Given the description of an element on the screen output the (x, y) to click on. 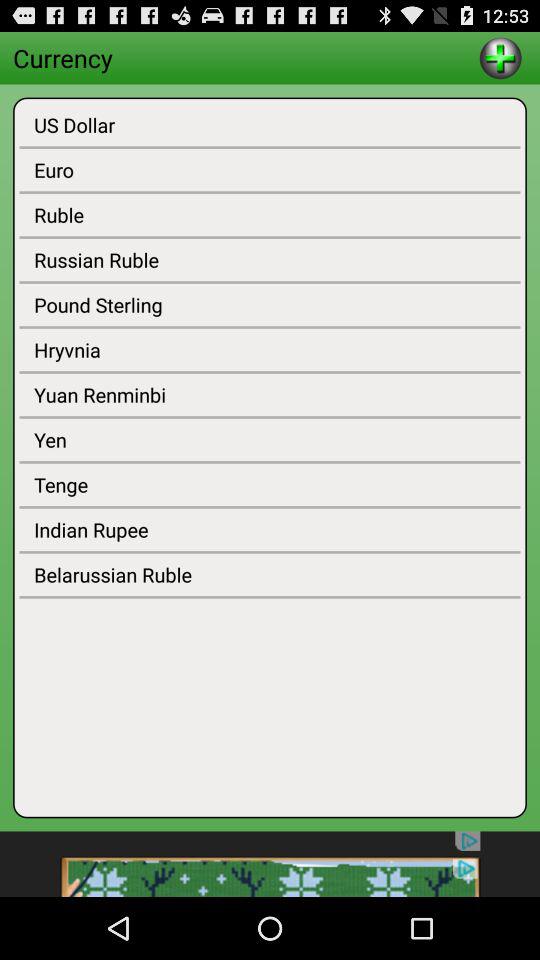
go to advertisement (270, 864)
